Given the description of an element on the screen output the (x, y) to click on. 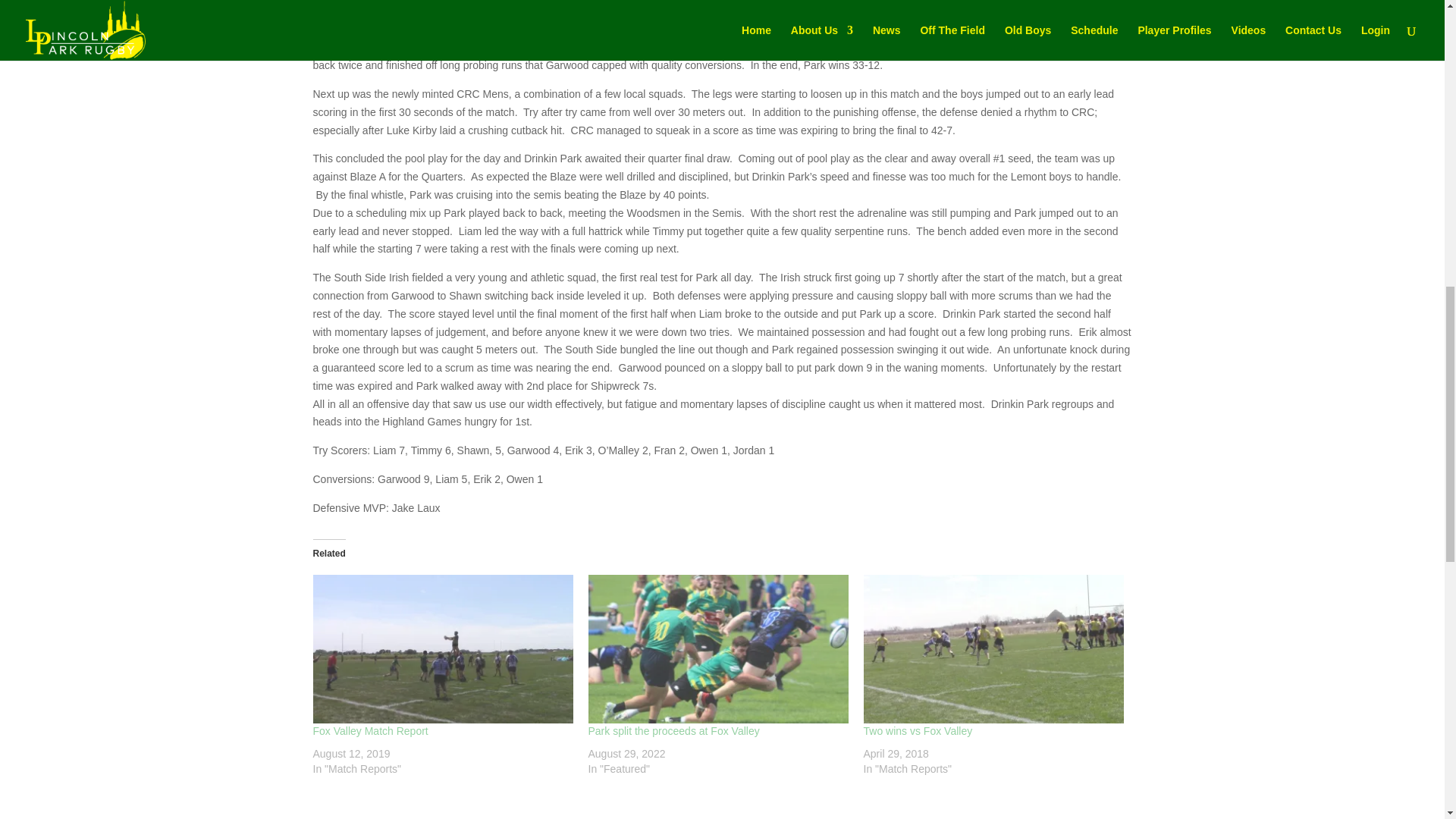
Fox Valley Match Report (370, 730)
Park split the proceeds at Fox Valley (718, 648)
Fox Valley Match Report (370, 730)
Two wins vs Fox Valley (992, 648)
Park split the proceeds at Fox Valley (674, 730)
Park split the proceeds at Fox Valley (674, 730)
Two wins vs Fox Valley (917, 730)
Two wins vs Fox Valley (917, 730)
Fox Valley Match Report (442, 648)
